Given the description of an element on the screen output the (x, y) to click on. 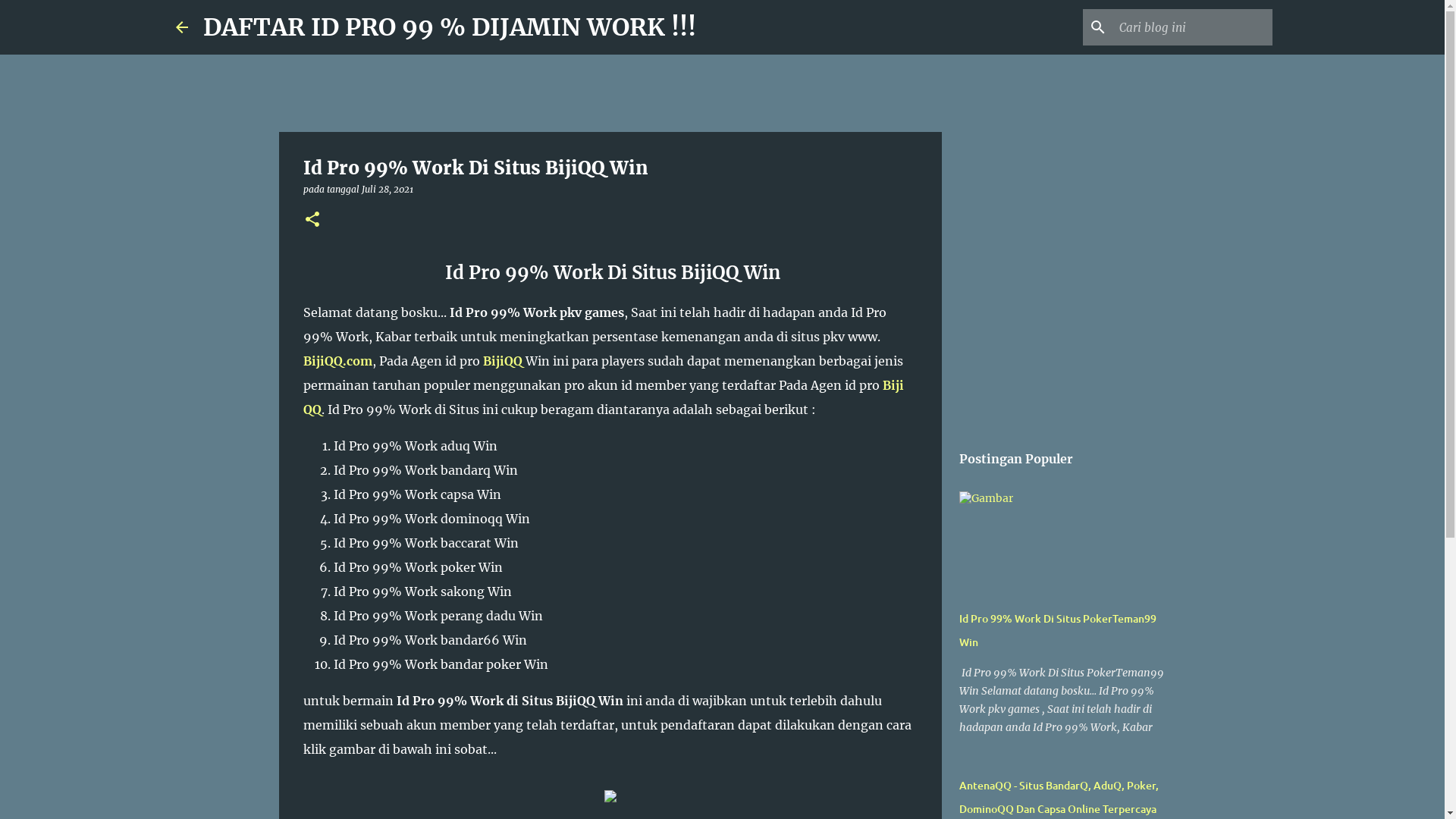
BijiQQ Element type: text (502, 360)
Juli 28, 2021 Element type: text (387, 188)
Biji QQ Element type: text (603, 397)
DAFTAR ID PRO 99 % DIJAMIN WORK !!! Element type: text (449, 27)
Id Pro 99% Work Di Situs PokerTeman99 Win Element type: text (1057, 630)
BijiQQ.com Element type: text (337, 360)
